Given the description of an element on the screen output the (x, y) to click on. 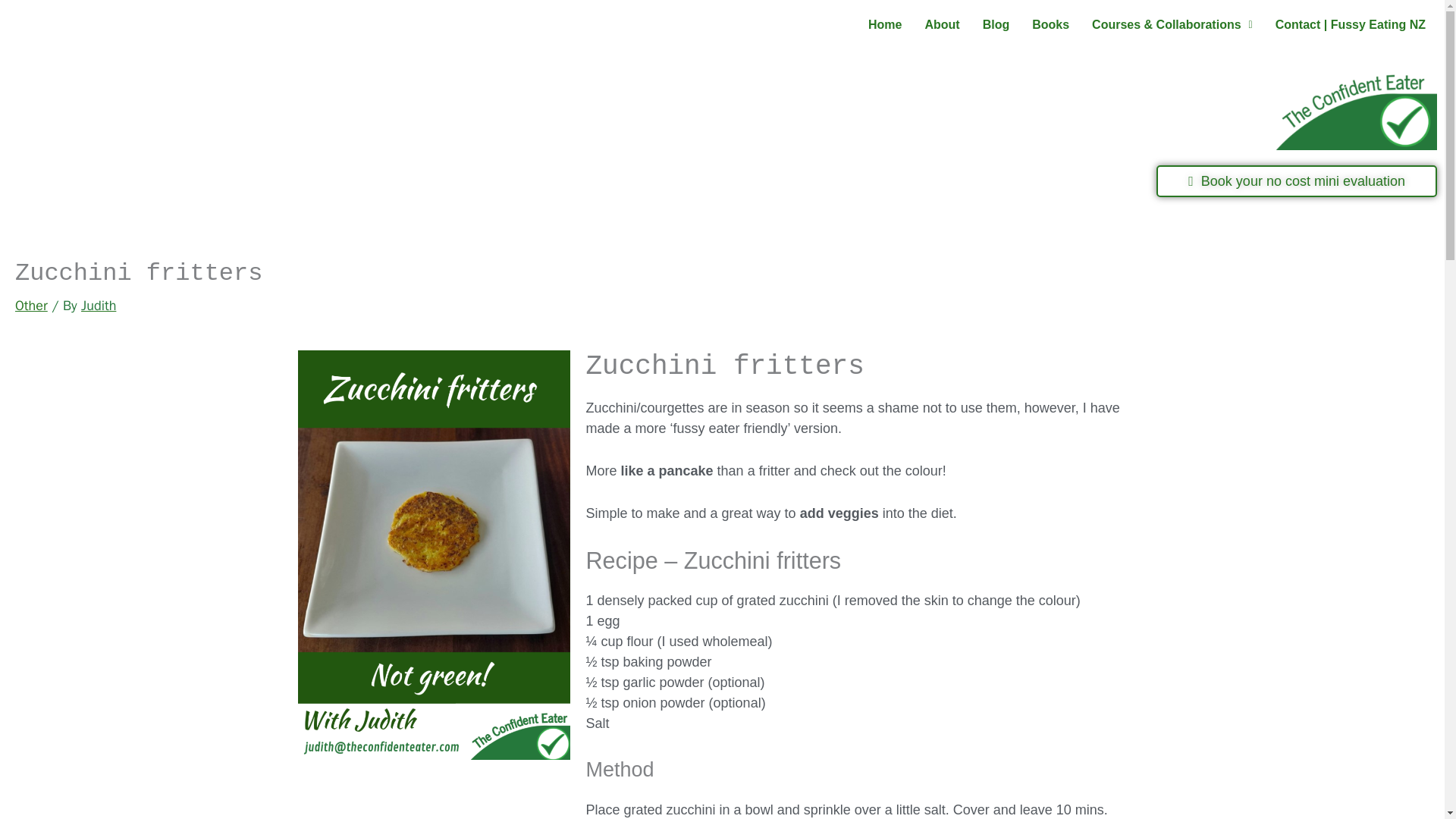
Home (884, 24)
Blog (996, 24)
Books (1050, 24)
Judith (98, 305)
Other (31, 305)
Book your no cost mini evaluation (1296, 181)
View all posts by Judith (98, 305)
About (941, 24)
